Given the description of an element on the screen output the (x, y) to click on. 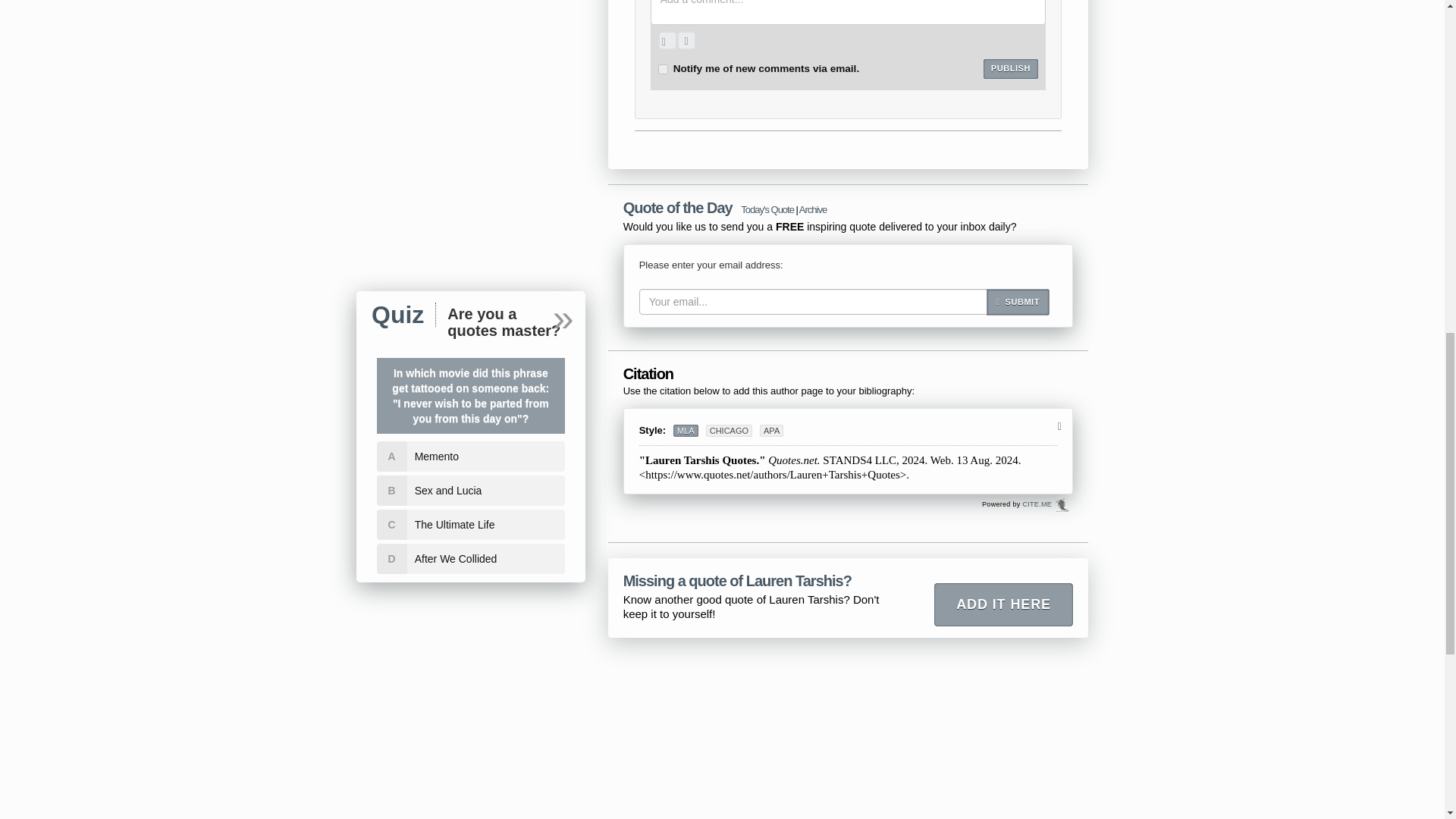
Record a sound (686, 40)
Upload an image (667, 40)
Cite.Me (1061, 504)
Cite.Me (1036, 503)
on (663, 69)
Cite.Me (1062, 504)
